Given the description of an element on the screen output the (x, y) to click on. 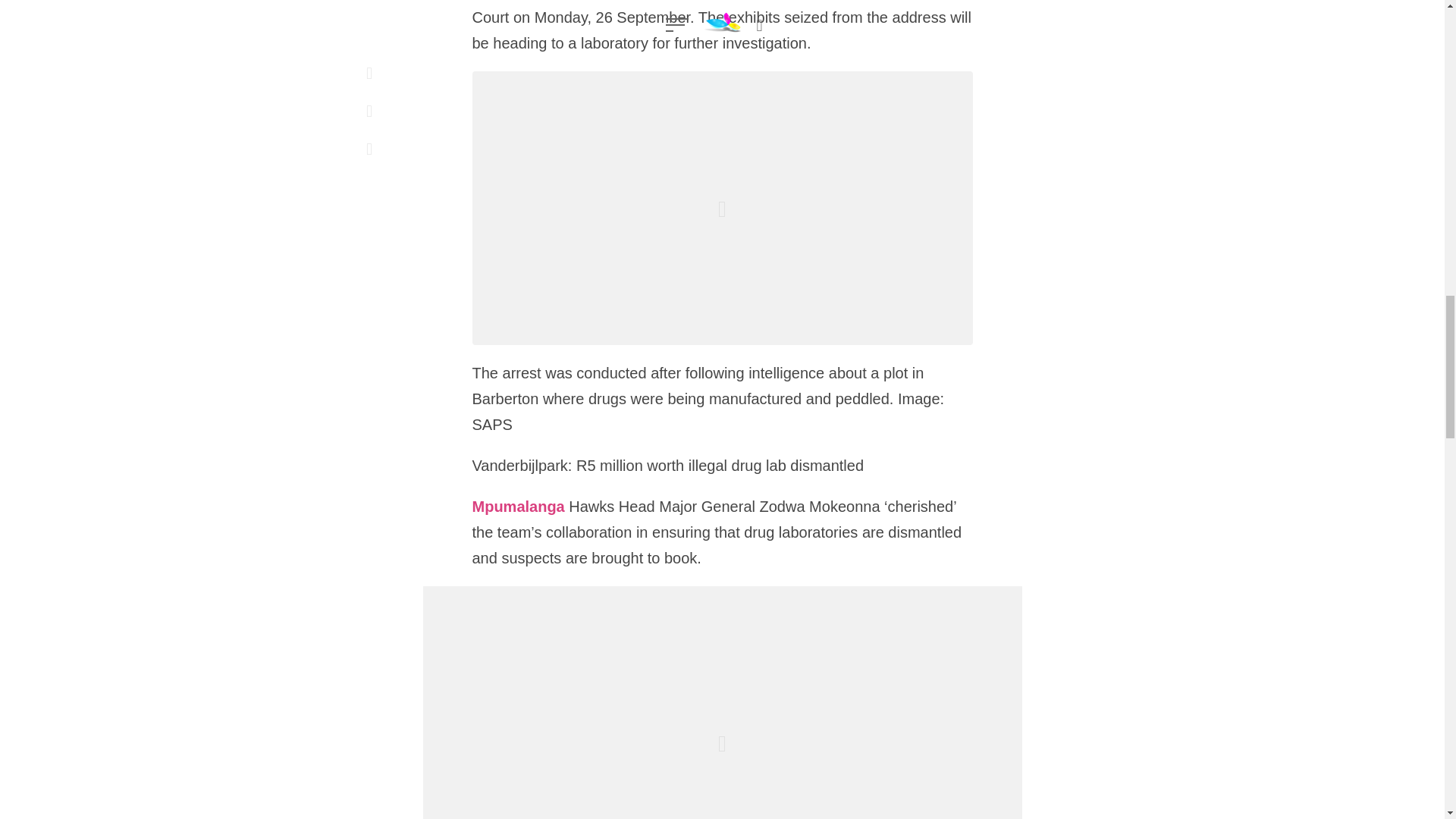
Mpumalanga (517, 506)
